Given the description of an element on the screen output the (x, y) to click on. 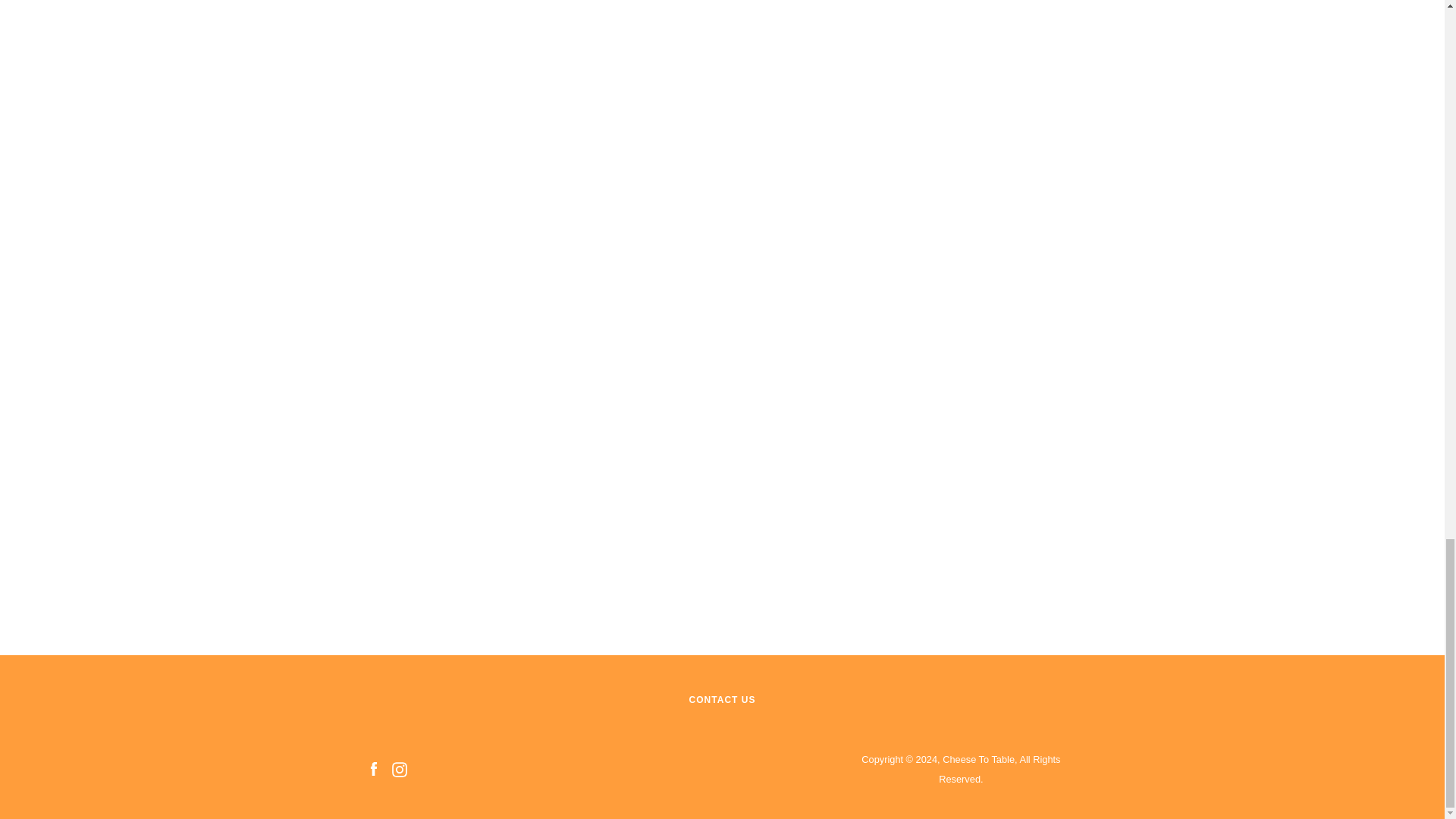
Facebook (372, 768)
CONTACT US (721, 699)
Cheese To Table on Instagram (399, 768)
Cheese To Table on Facebook (372, 768)
Instagram (399, 768)
